Given the description of an element on the screen output the (x, y) to click on. 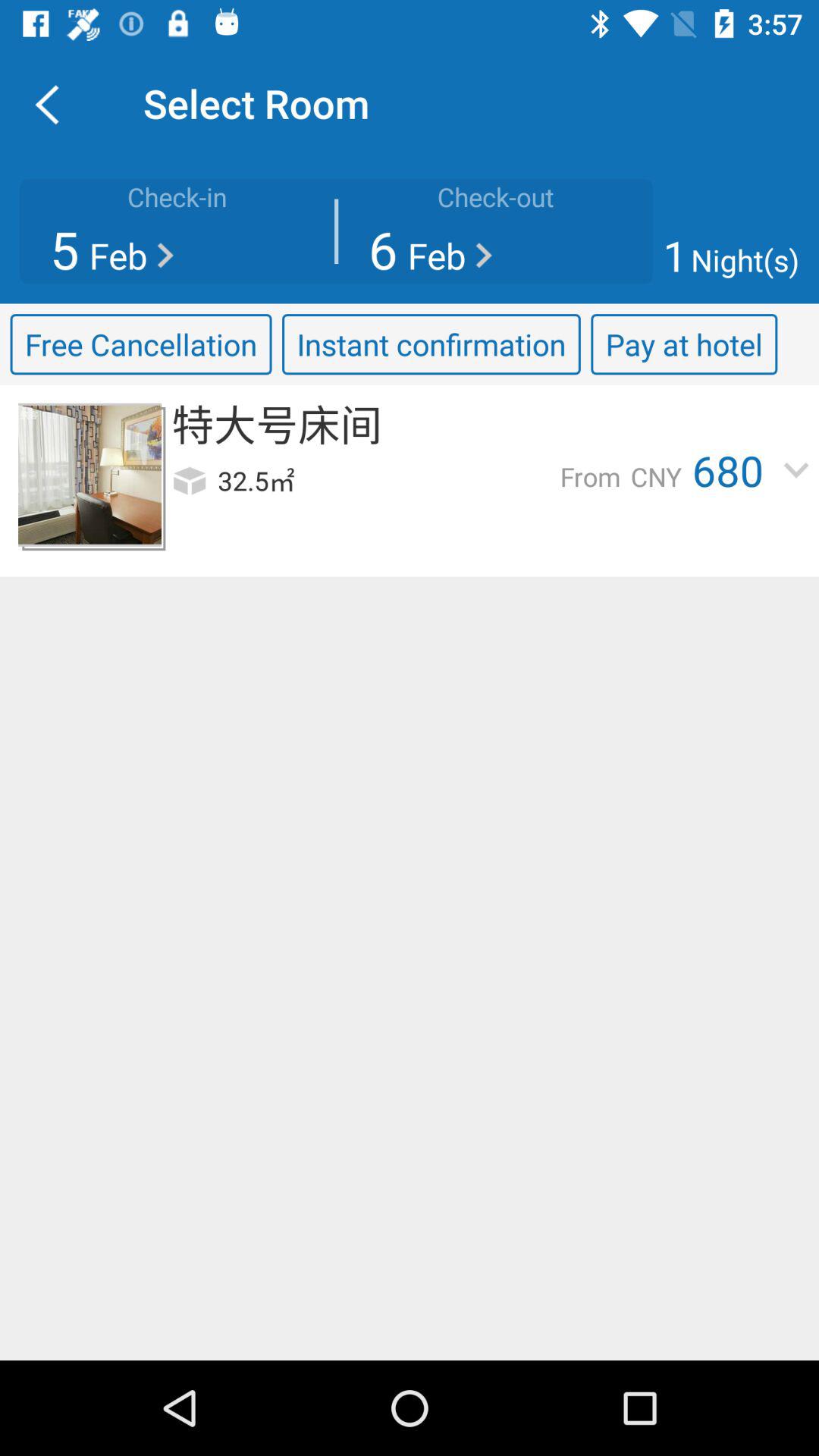
press the icon to the right of instant confirmation item (683, 343)
